Given the description of an element on the screen output the (x, y) to click on. 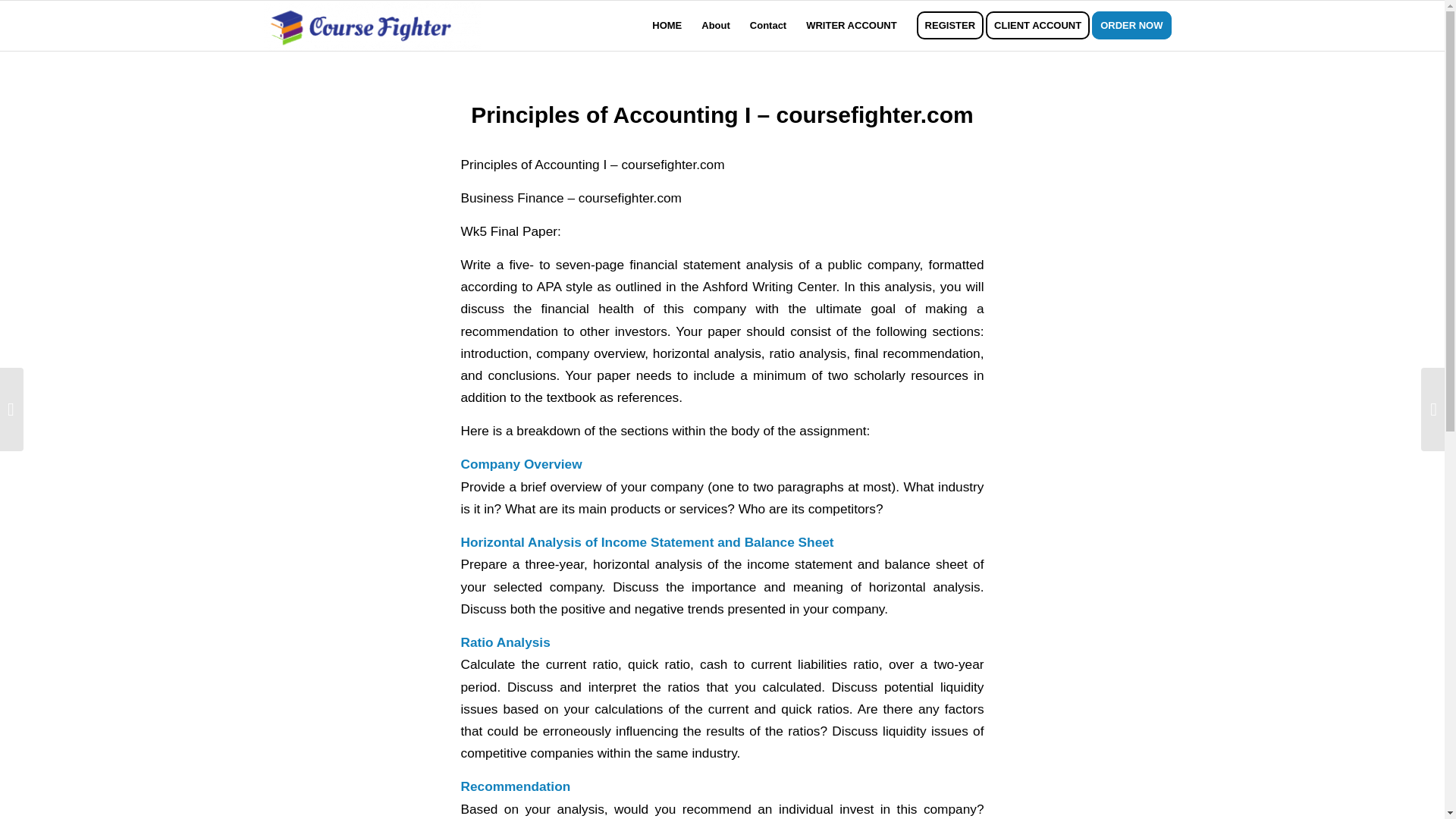
About (715, 25)
REGISTER (949, 25)
HOME (666, 25)
Contact (767, 25)
CLIENT ACCOUNT (1042, 25)
WRITER ACCOUNT (850, 25)
ORDER NOW (1136, 25)
